Given the description of an element on the screen output the (x, y) to click on. 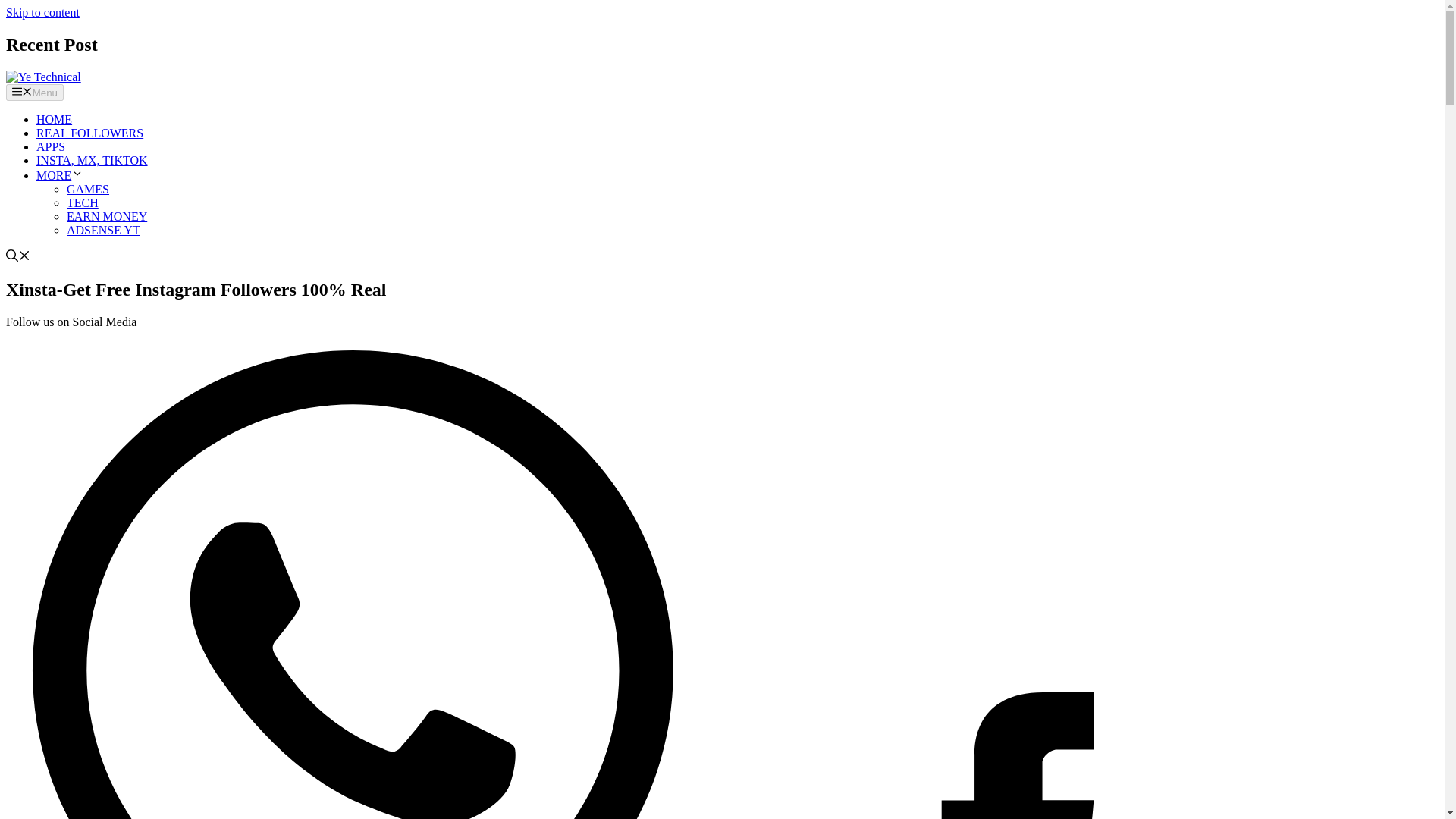
EARN MONEY (106, 215)
Ye Technical (43, 76)
REAL FOLLOWERS (89, 132)
Skip to content (42, 11)
Ye Technical (43, 77)
Skip to content (42, 11)
ADSENSE YT (102, 229)
GAMES (87, 188)
APPS (50, 146)
HOME (53, 119)
TECH (82, 202)
INSTA, MX, TIKTOK (92, 160)
Menu (34, 92)
MORE (59, 174)
